Given the description of an element on the screen output the (x, y) to click on. 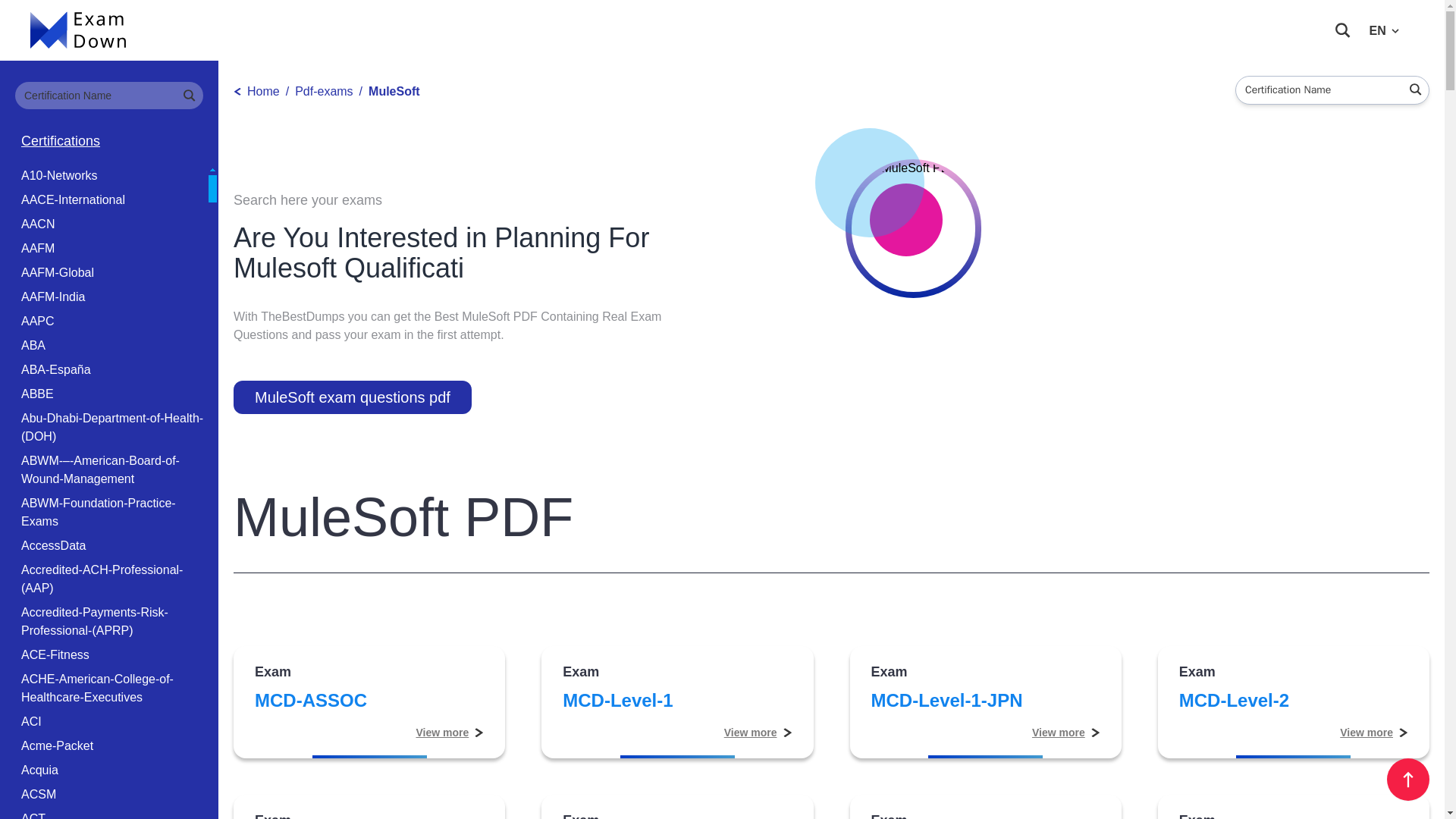
Examdown (78, 30)
